Given the description of an element on the screen output the (x, y) to click on. 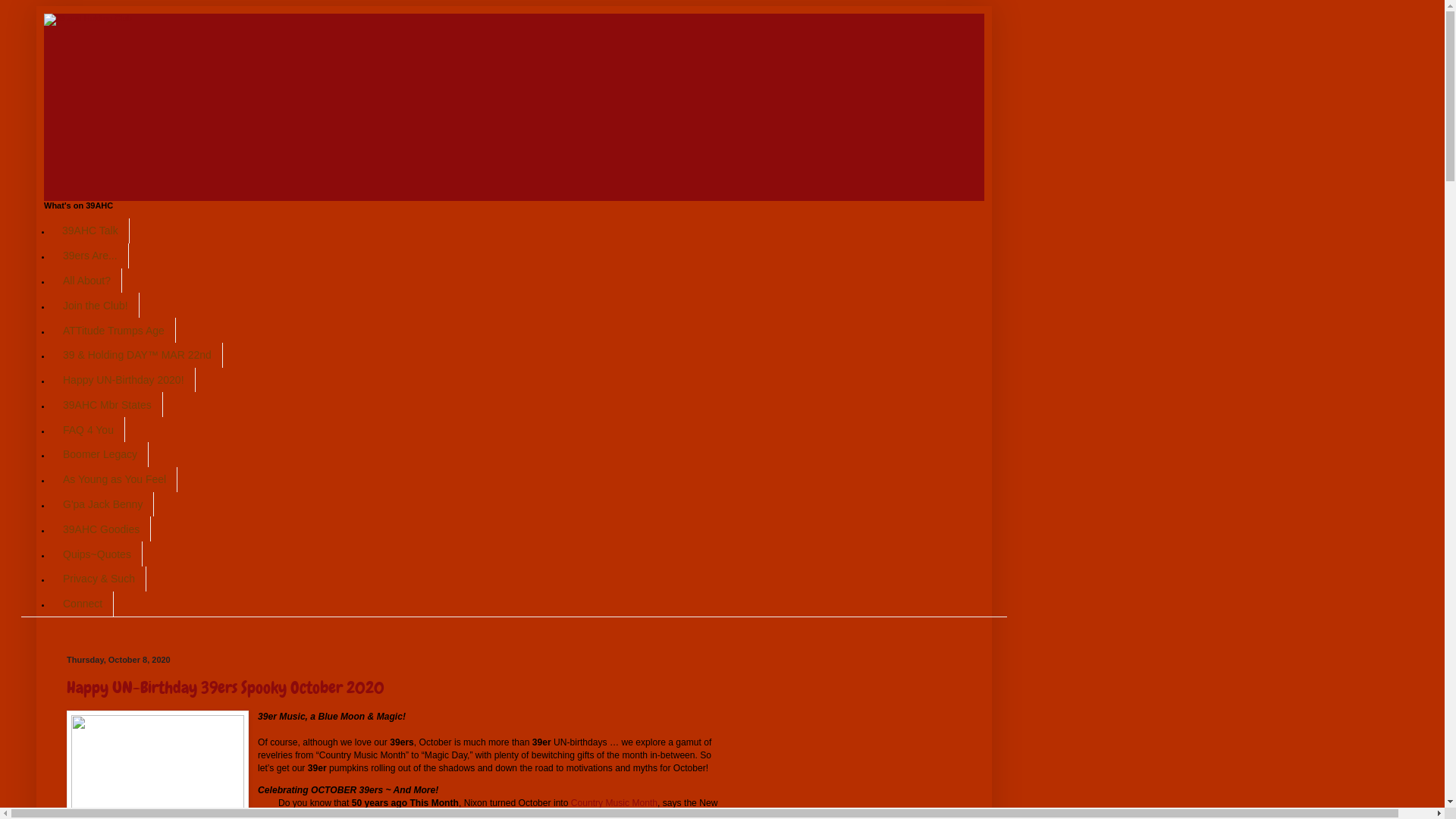
As Young as You Feel Element type: text (114, 479)
Join the Club! Element type: text (95, 304)
39AHC Goodies Element type: text (100, 528)
ATTitude Trumps Age Element type: text (113, 329)
Quips~Quotes Element type: text (96, 553)
Country Music Month Element type: text (614, 802)
39ers Are... Element type: text (89, 255)
G'pa Jack Benny Element type: text (102, 504)
Happy UN-Birthday 2020! Element type: text (123, 379)
39AHC Mbr States Element type: text (107, 404)
All About? Element type: text (86, 280)
Connect Element type: text (82, 603)
39AHC Talk Element type: text (90, 230)
Happy UN-Birthday 39ers Spooky October 2020 Element type: text (225, 687)
Privacy & Such Element type: text (98, 578)
Boomer Legacy Element type: text (99, 454)
FAQ 4 You Element type: text (88, 429)
